Given the description of an element on the screen output the (x, y) to click on. 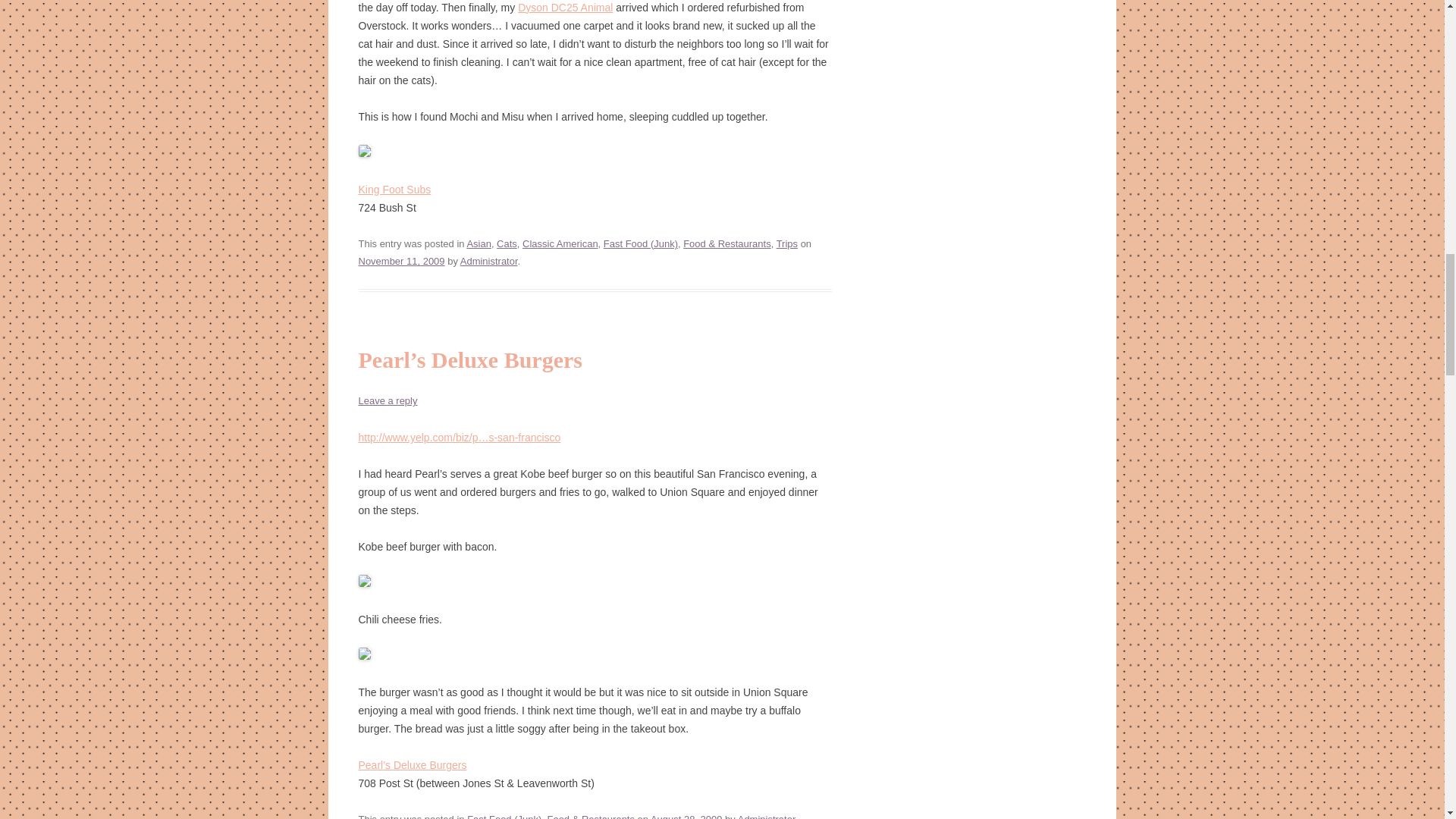
9:00 pm (401, 260)
View all posts by Administrator (766, 816)
Asian (477, 243)
Dyson DC25 Animal (565, 7)
Cats (506, 243)
View all posts by Administrator (489, 260)
Classic American (560, 243)
10:12 pm (686, 816)
King Foot Subs (394, 189)
